Given the description of an element on the screen output the (x, y) to click on. 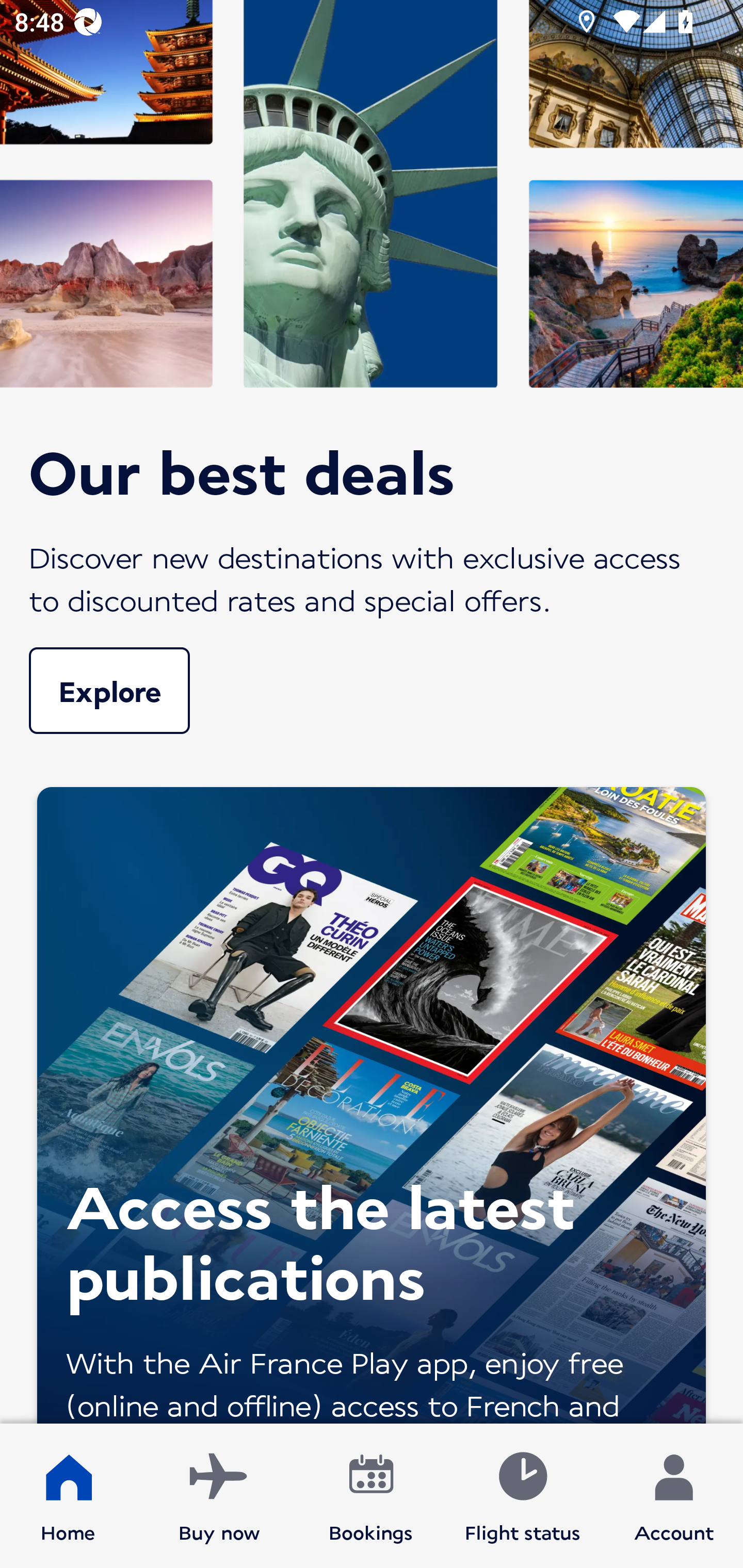
Buy now (219, 1495)
Bookings (370, 1495)
Flight status (522, 1495)
Account (674, 1495)
